Given the description of an element on the screen output the (x, y) to click on. 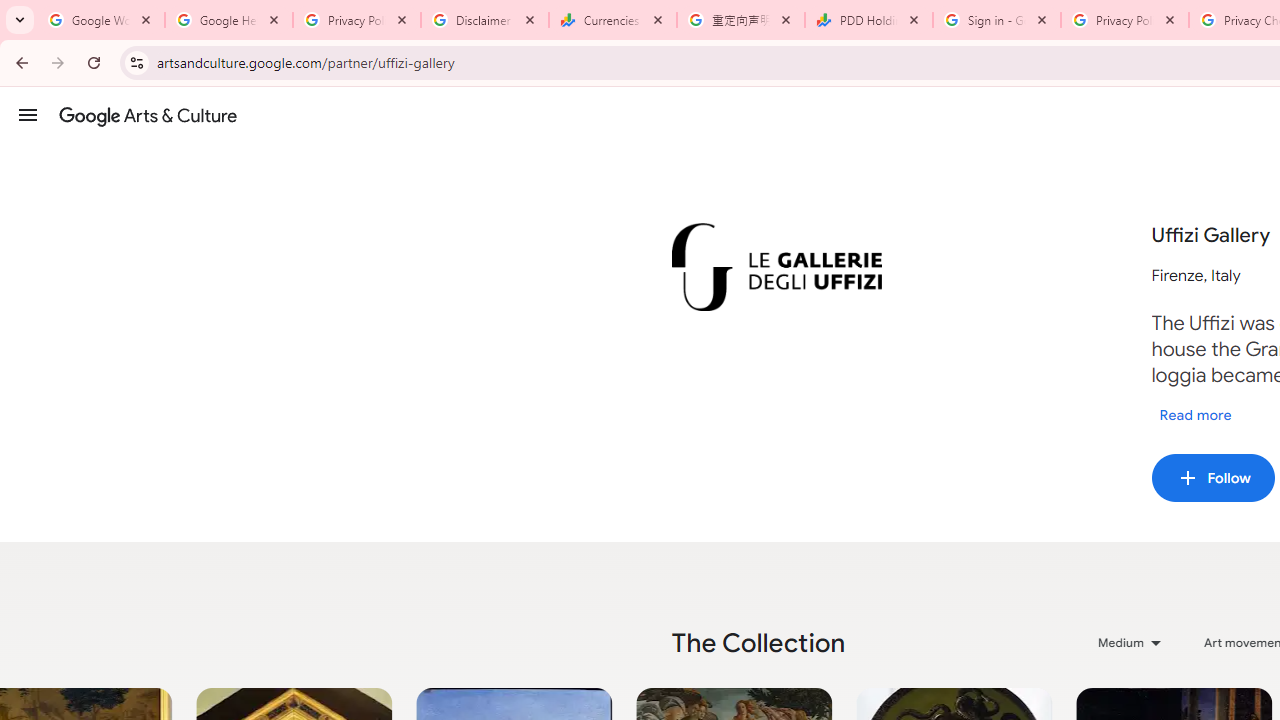
Currencies - Google Finance (613, 20)
PDD Holdings Inc - ADR (PDD) Price & News - Google Finance (869, 20)
Google Workspace Admin Community (101, 20)
Google Arts & Culture (148, 115)
Sign in - Google Accounts (997, 20)
